Given the description of an element on the screen output the (x, y) to click on. 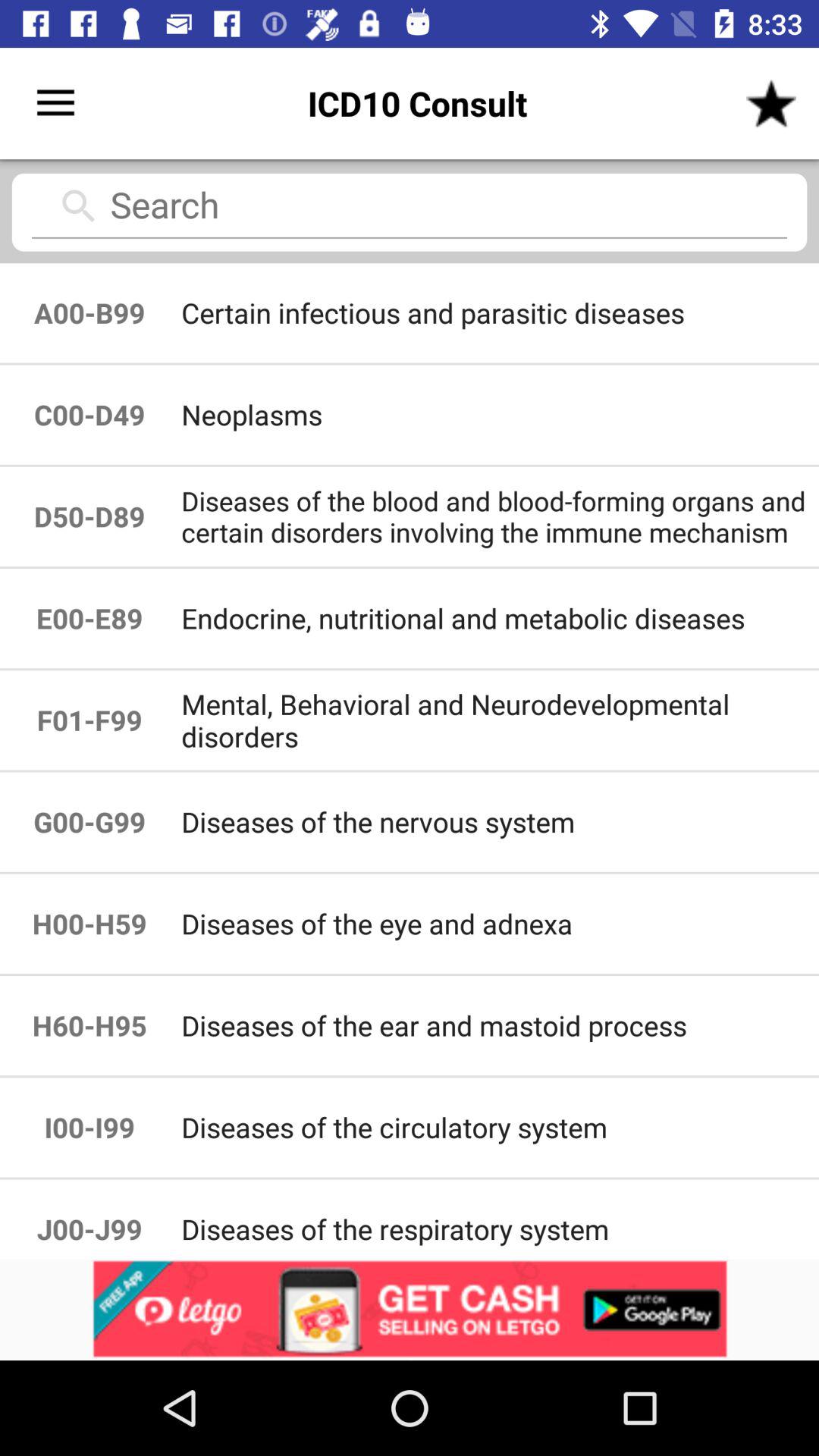
open item next to d50-d89 icon (499, 618)
